Given the description of an element on the screen output the (x, y) to click on. 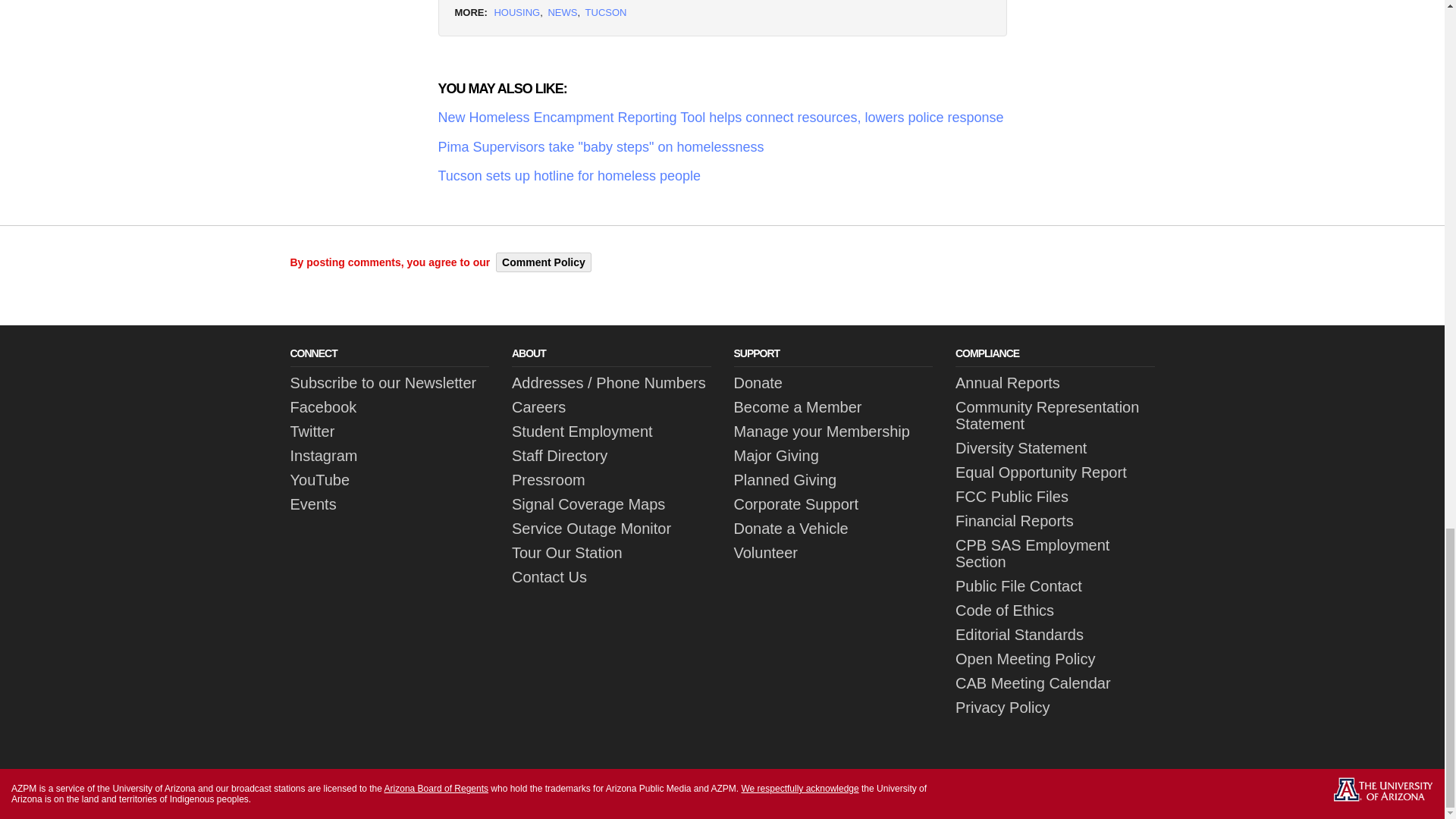
Tucson sets up hotline for homeless people (722, 176)
Pima Supervisors take "baby steps" on homelessness (722, 147)
